Given the description of an element on the screen output the (x, y) to click on. 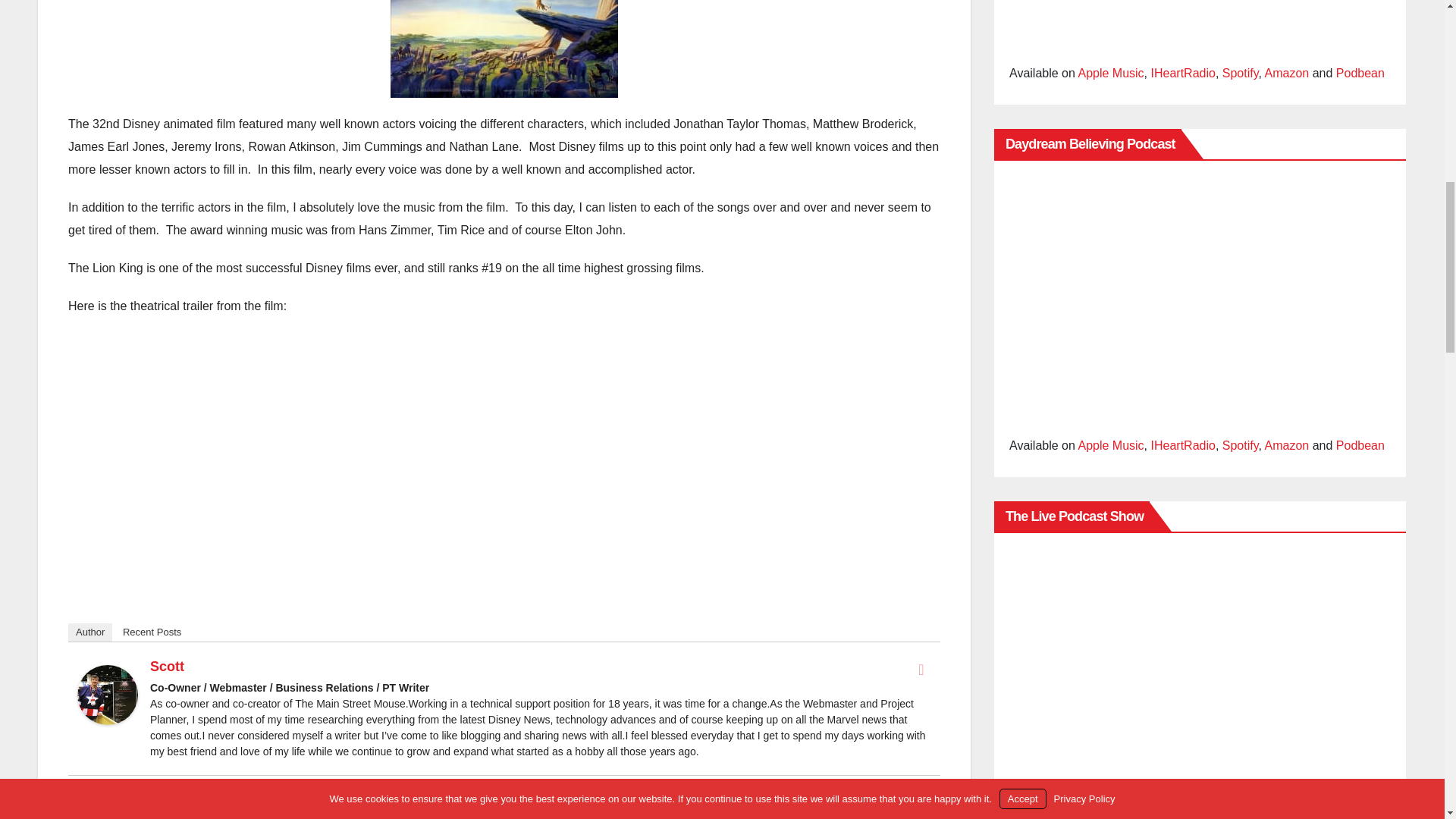
Recent Posts (152, 632)
Author (90, 632)
Scott (166, 666)
